Given the description of an element on the screen output the (x, y) to click on. 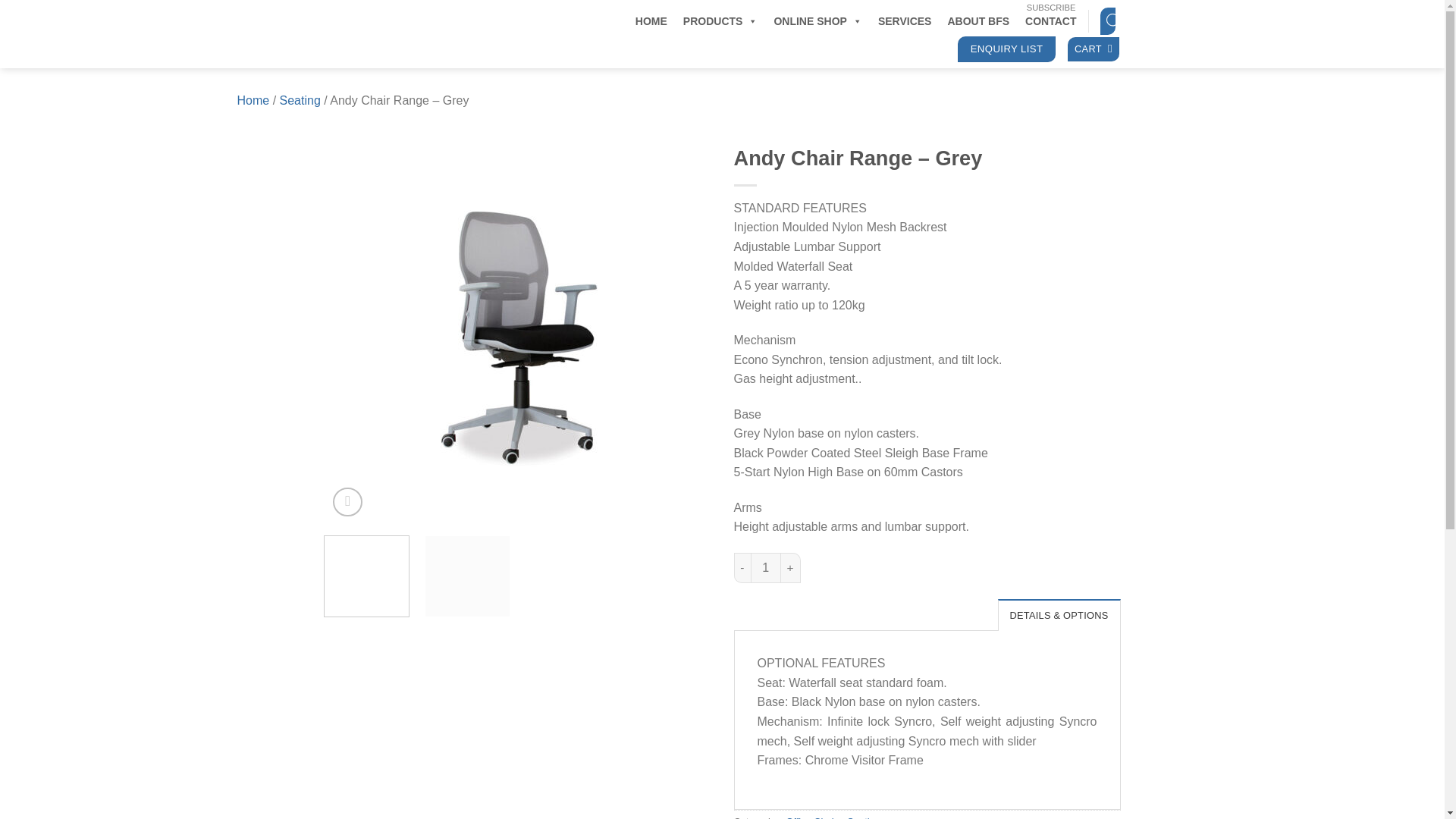
SUBSCRIBE (1050, 7)
Zoom (347, 501)
Cart (1093, 49)
PRODUCTS (720, 20)
Business Furniture Solutions - Rent or Buy Office Furniture (418, 33)
HOME (650, 20)
1 (765, 567)
Sign up for Newsletter (1050, 7)
